Given the description of an element on the screen output the (x, y) to click on. 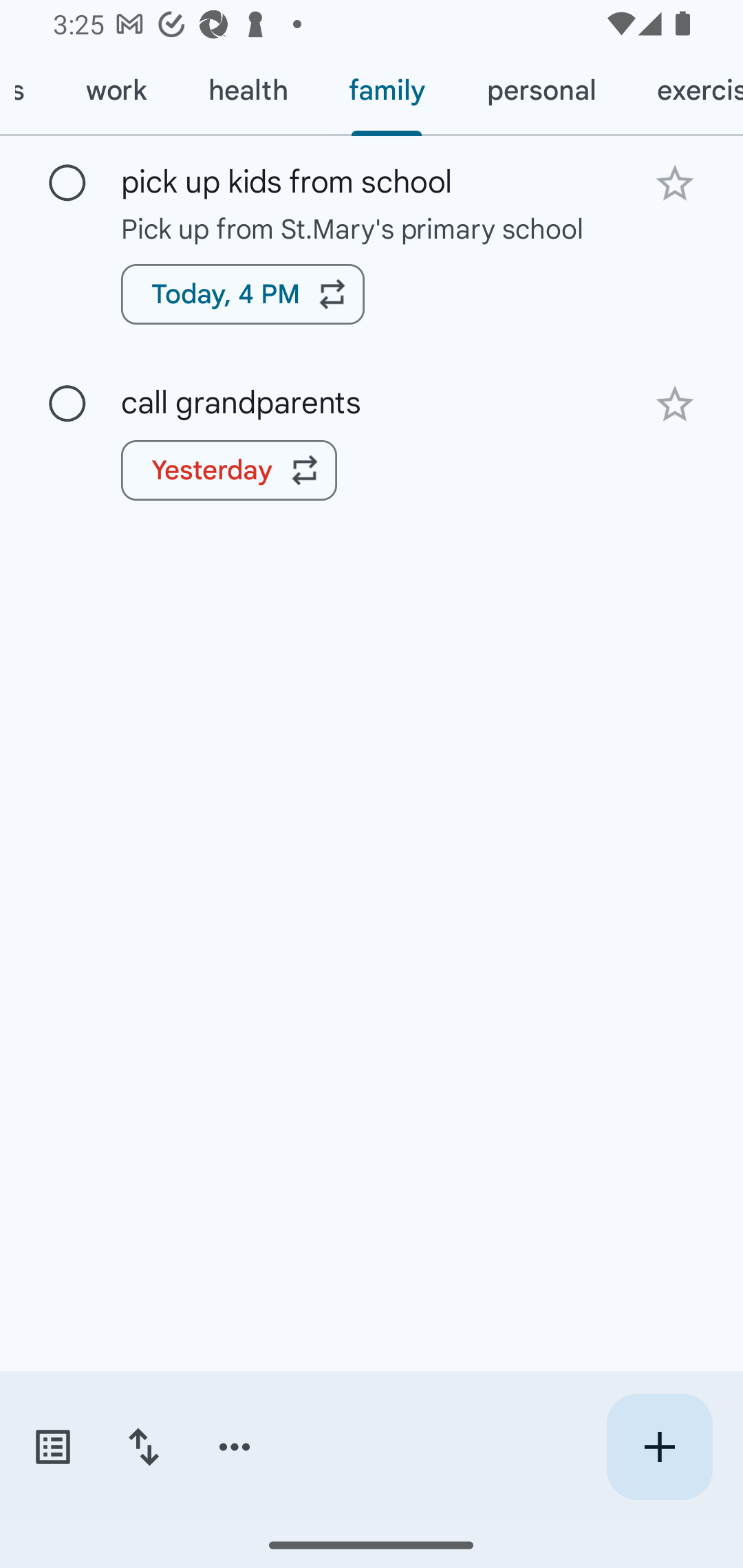
work (115, 90)
health (247, 90)
personal (541, 90)
exercise (684, 90)
Add star (674, 182)
Mark as complete (67, 183)
Pick up from St.Mary's primary school (371, 228)
Today, 4 PM (242, 294)
Add star (674, 404)
Mark as complete (67, 403)
Yesterday (229, 469)
Switch task lists (52, 1447)
Create new task (659, 1446)
Change sort order (143, 1446)
More options (234, 1446)
